Given the description of an element on the screen output the (x, y) to click on. 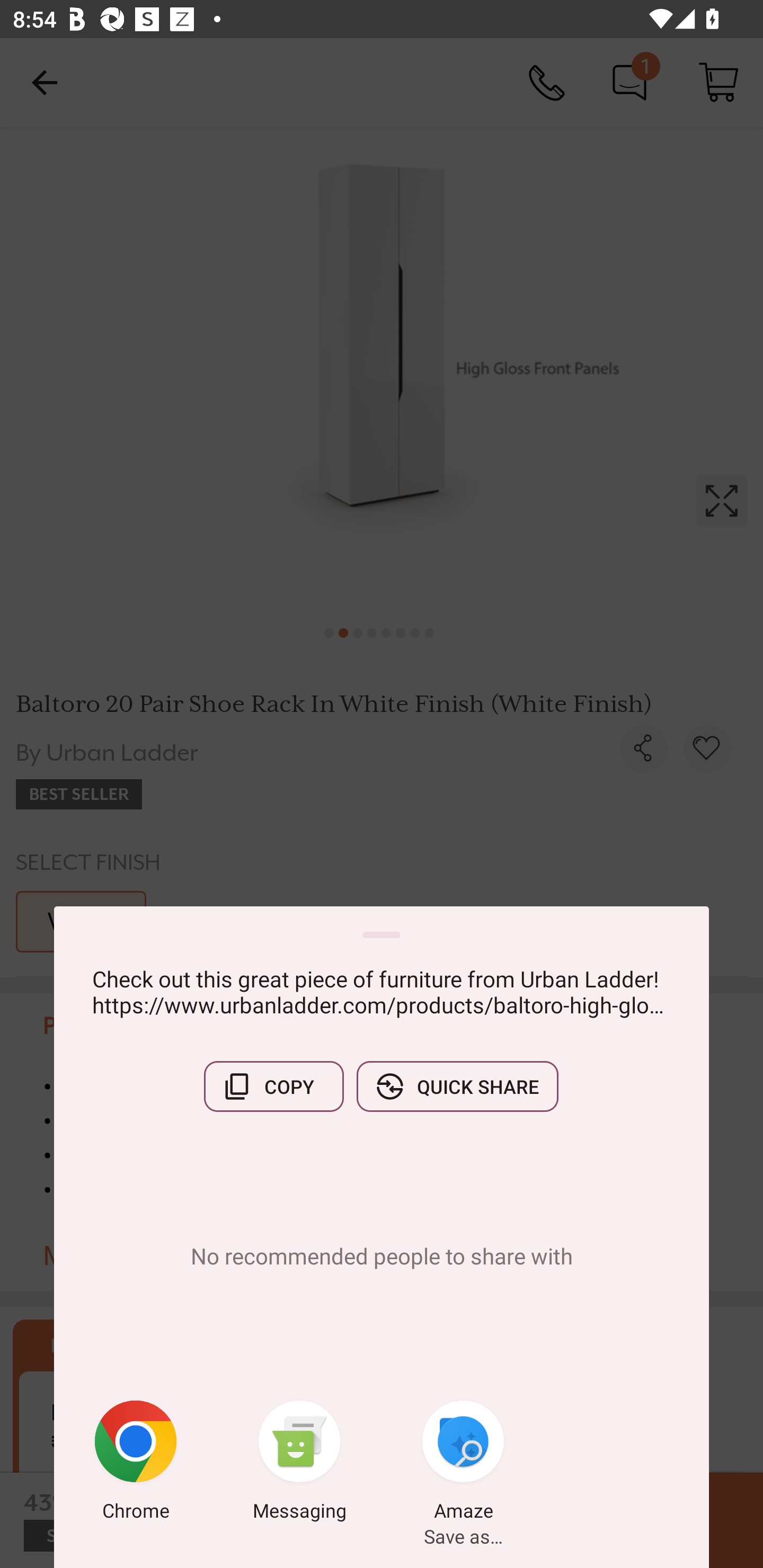
COPY (273, 1086)
QUICK SHARE (457, 1086)
Chrome (135, 1463)
Messaging (299, 1463)
Amaze Save as… (463, 1463)
